Given the description of an element on the screen output the (x, y) to click on. 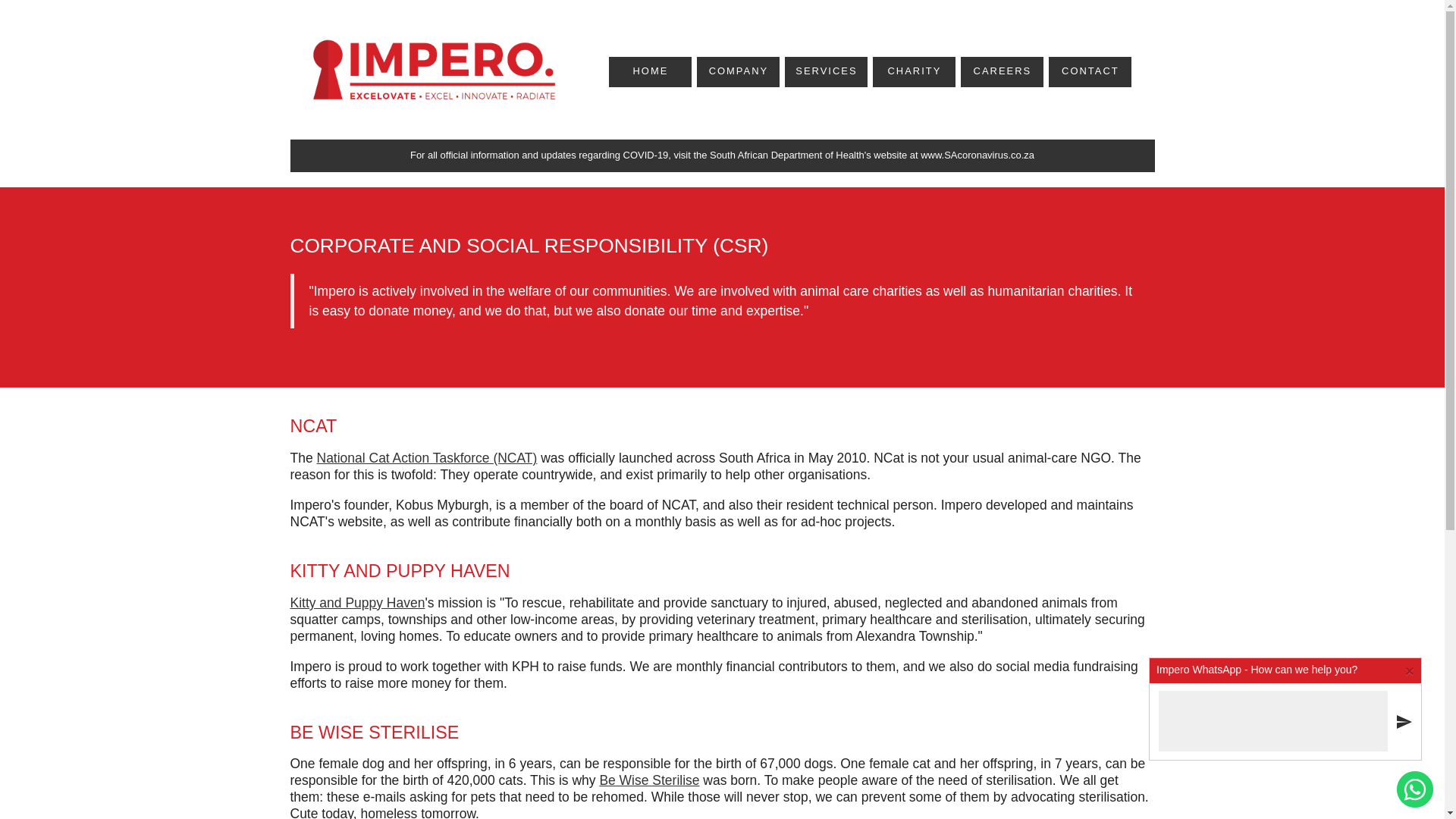
COMPANY (738, 71)
Click here to return to the Impero Consulting homepage. (649, 71)
Click here to contact Impero Consulting. (1090, 71)
HOME (649, 71)
Be Wise Sterilise (648, 780)
www.SAcoronavirus.co.za (976, 154)
Kitty and Puppy Haven (357, 602)
CHARITY (914, 71)
CAREERS (1001, 71)
SERVICES (826, 71)
Click here to read more about Impero Consulting's services. (826, 71)
CONTACT (1090, 71)
